Given the description of an element on the screen output the (x, y) to click on. 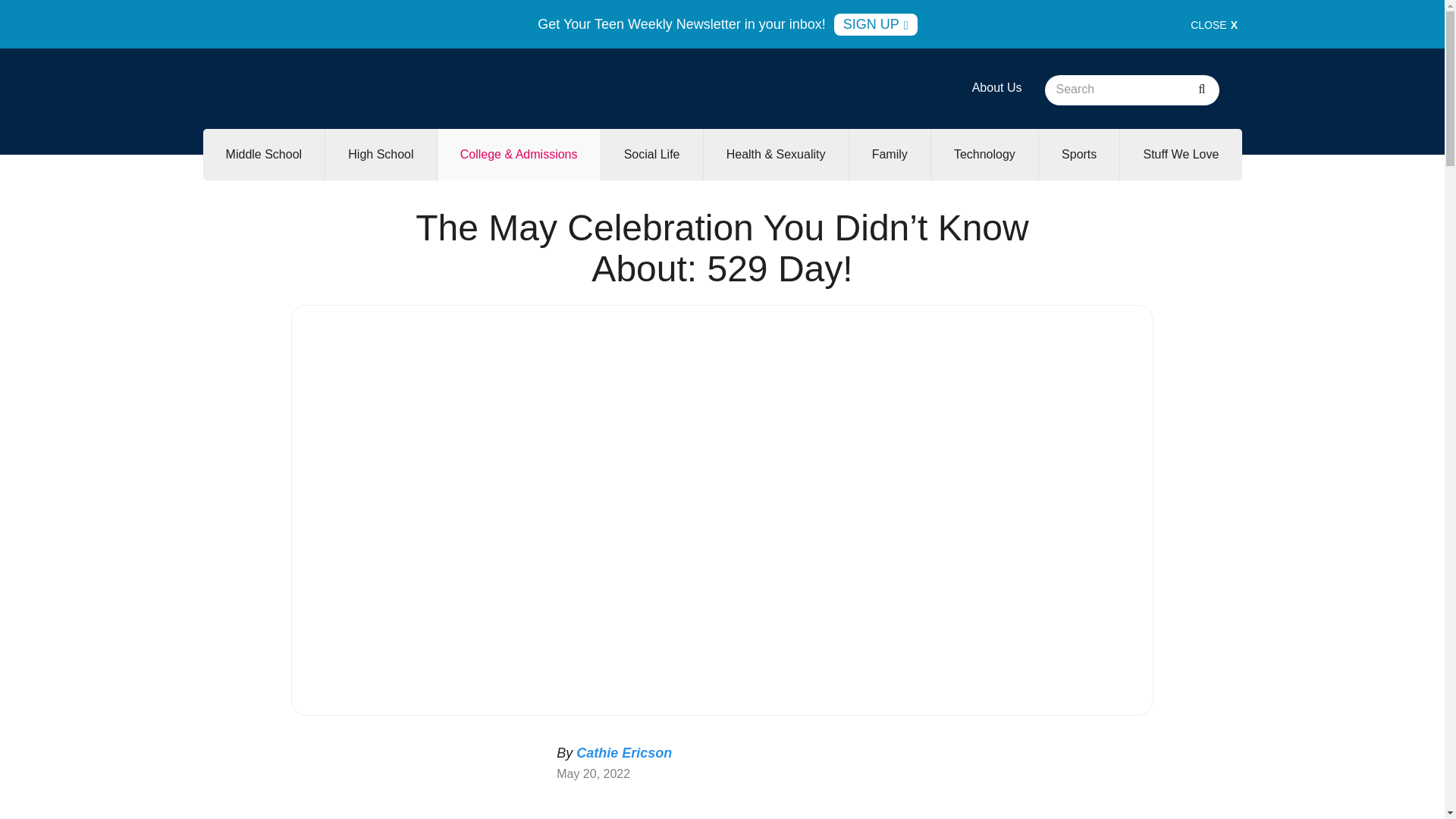
CLOSE (1214, 24)
Stuff We Love (1180, 154)
About Us (997, 87)
Sports (1079, 154)
High School (379, 154)
Search (1201, 90)
Family (889, 154)
SIGN UP (875, 24)
Social Life (652, 154)
Middle School (263, 154)
Technology (984, 154)
